Given the description of an element on the screen output the (x, y) to click on. 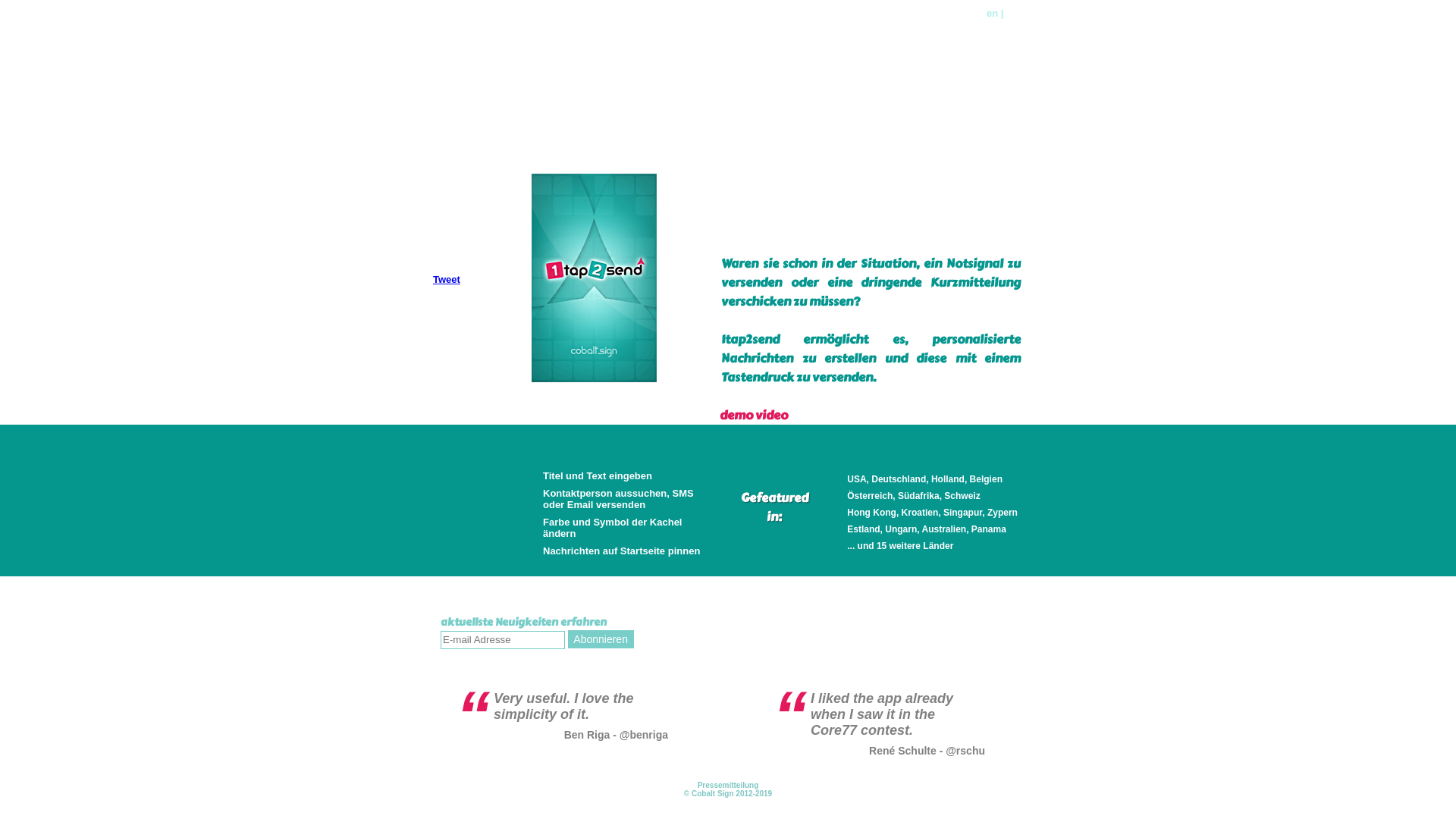
en Element type: text (991, 12)
Pressemitteilung Element type: text (728, 785)
Tweet Element type: text (446, 279)
Core77 Finalist Element type: text (504, 39)
@benriga Element type: text (643, 734)
Abonnieren Element type: text (600, 639)
demo video Element type: text (753, 414)
@rschu Element type: text (965, 750)
de Element type: text (1011, 12)
